Given the description of an element on the screen output the (x, y) to click on. 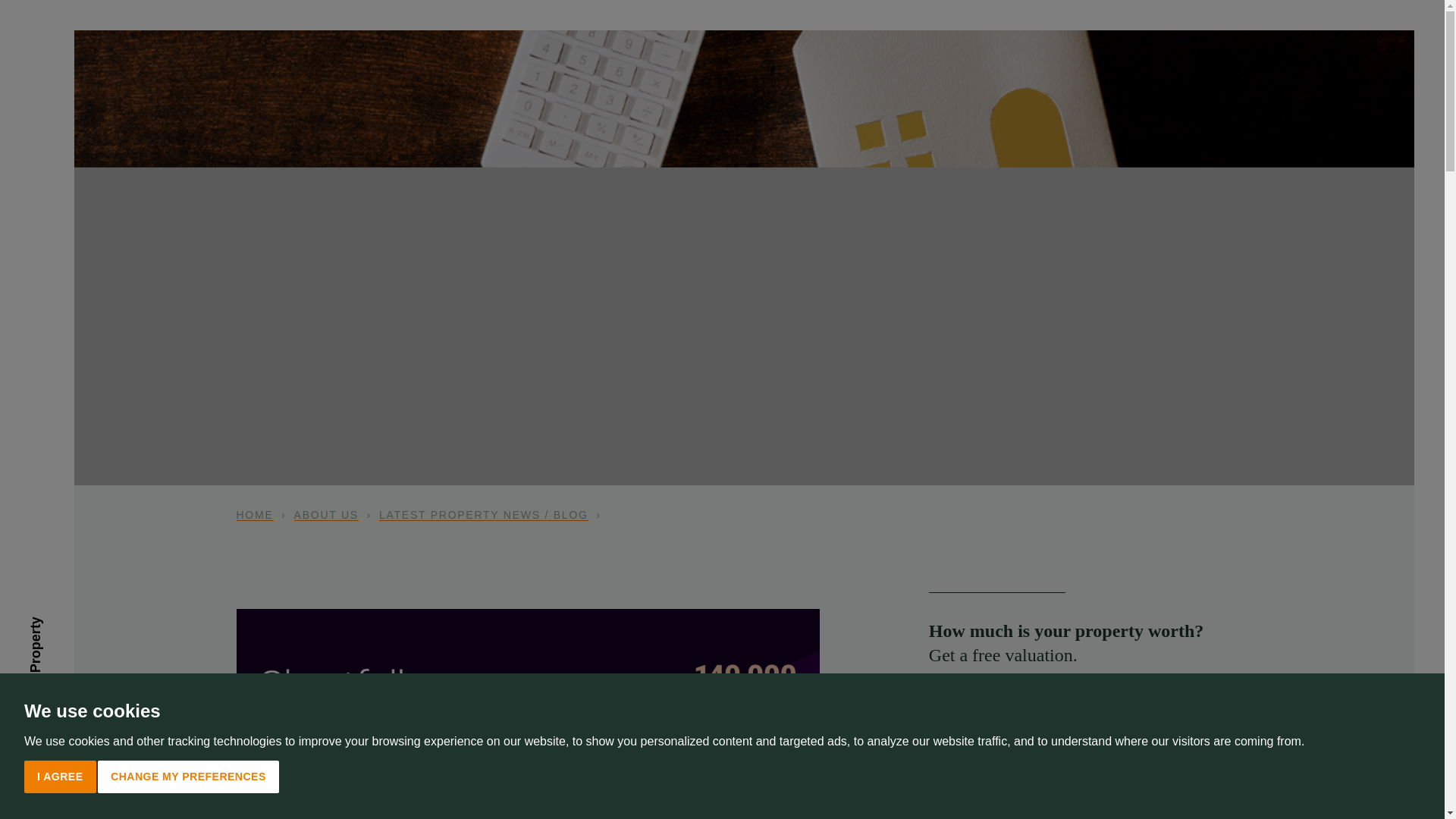
CHANGE MY PREFERENCES (188, 776)
I AGREE (60, 776)
Sell or Let Your Property (104, 627)
